Given the description of an element on the screen output the (x, y) to click on. 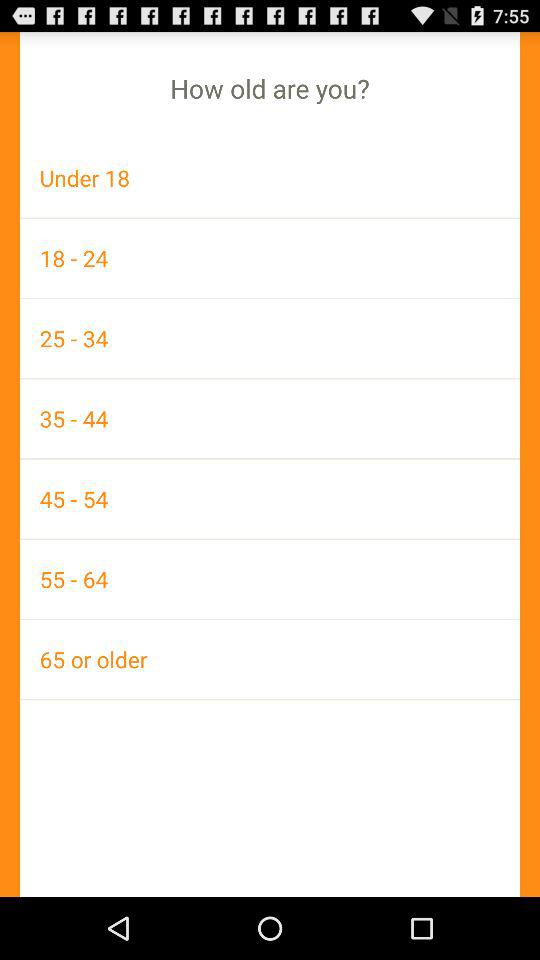
turn off icon above the 65 or older icon (269, 579)
